Given the description of an element on the screen output the (x, y) to click on. 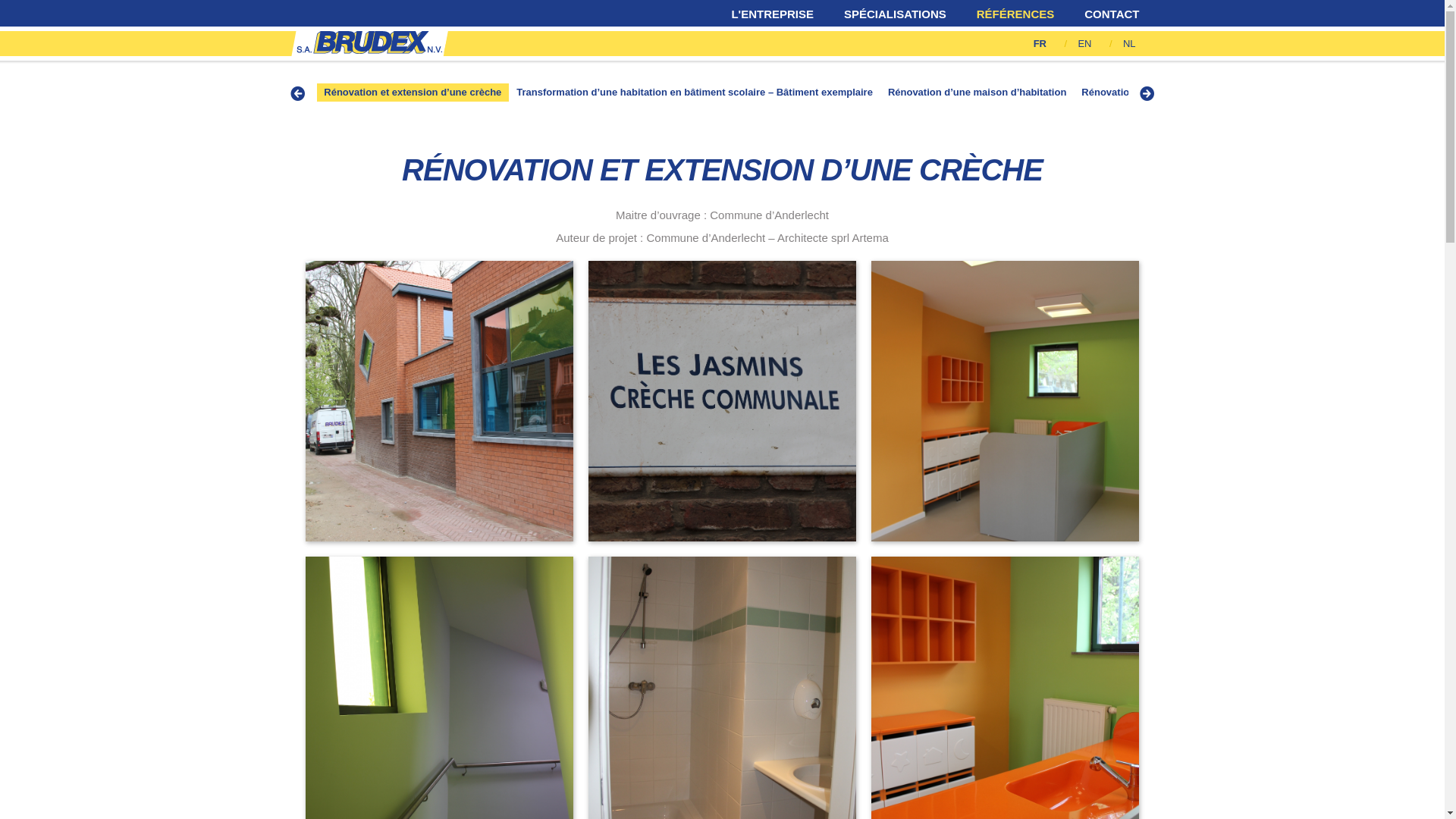
L'ENTREPRISE Element type: text (771, 13)
FR Element type: text (1041, 43)
CONTACT Element type: text (1111, 13)
EN Element type: text (1085, 43)
NL Element type: text (1129, 43)
